Given the description of an element on the screen output the (x, y) to click on. 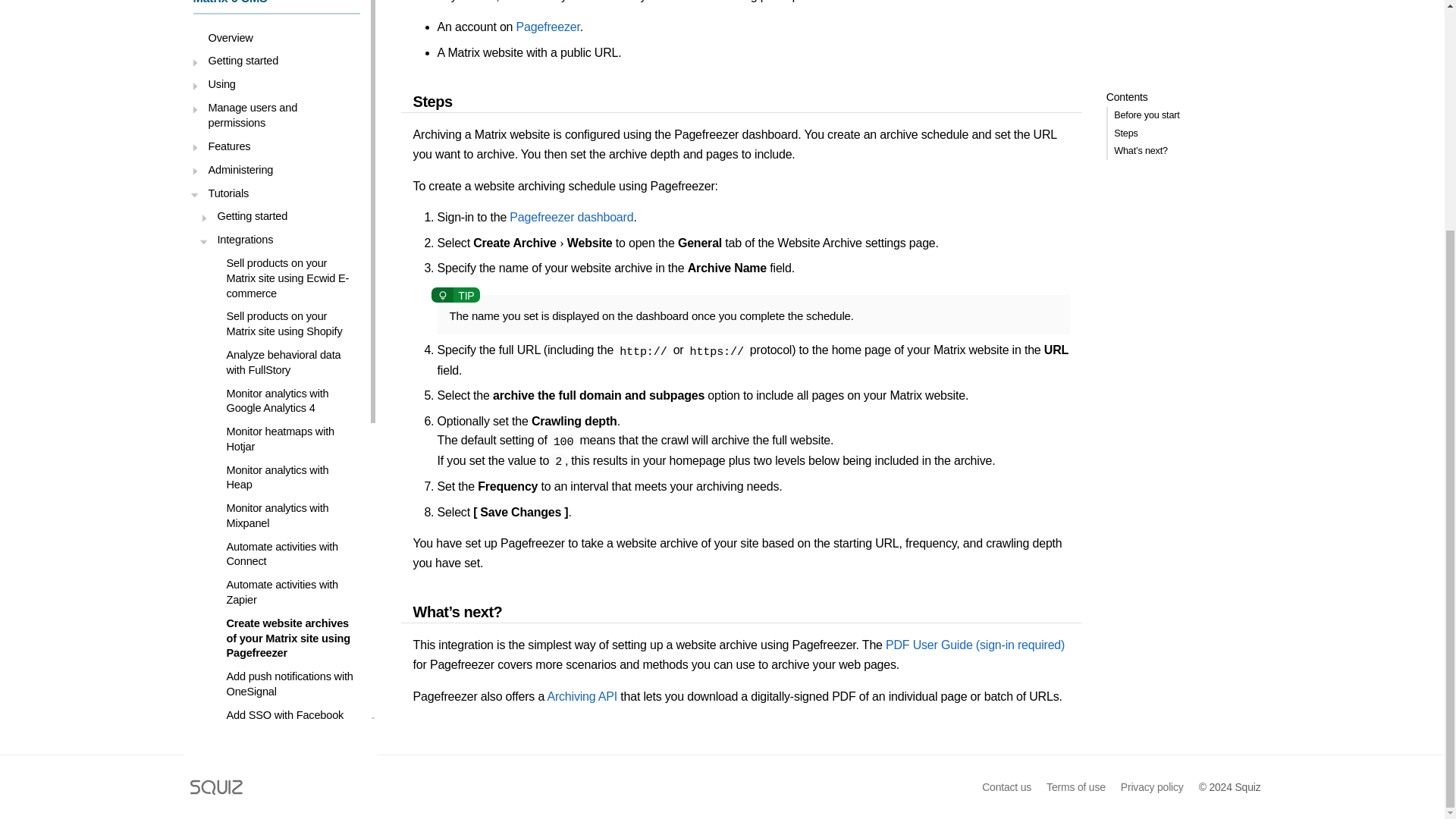
Tip (455, 295)
